Given the description of an element on the screen output the (x, y) to click on. 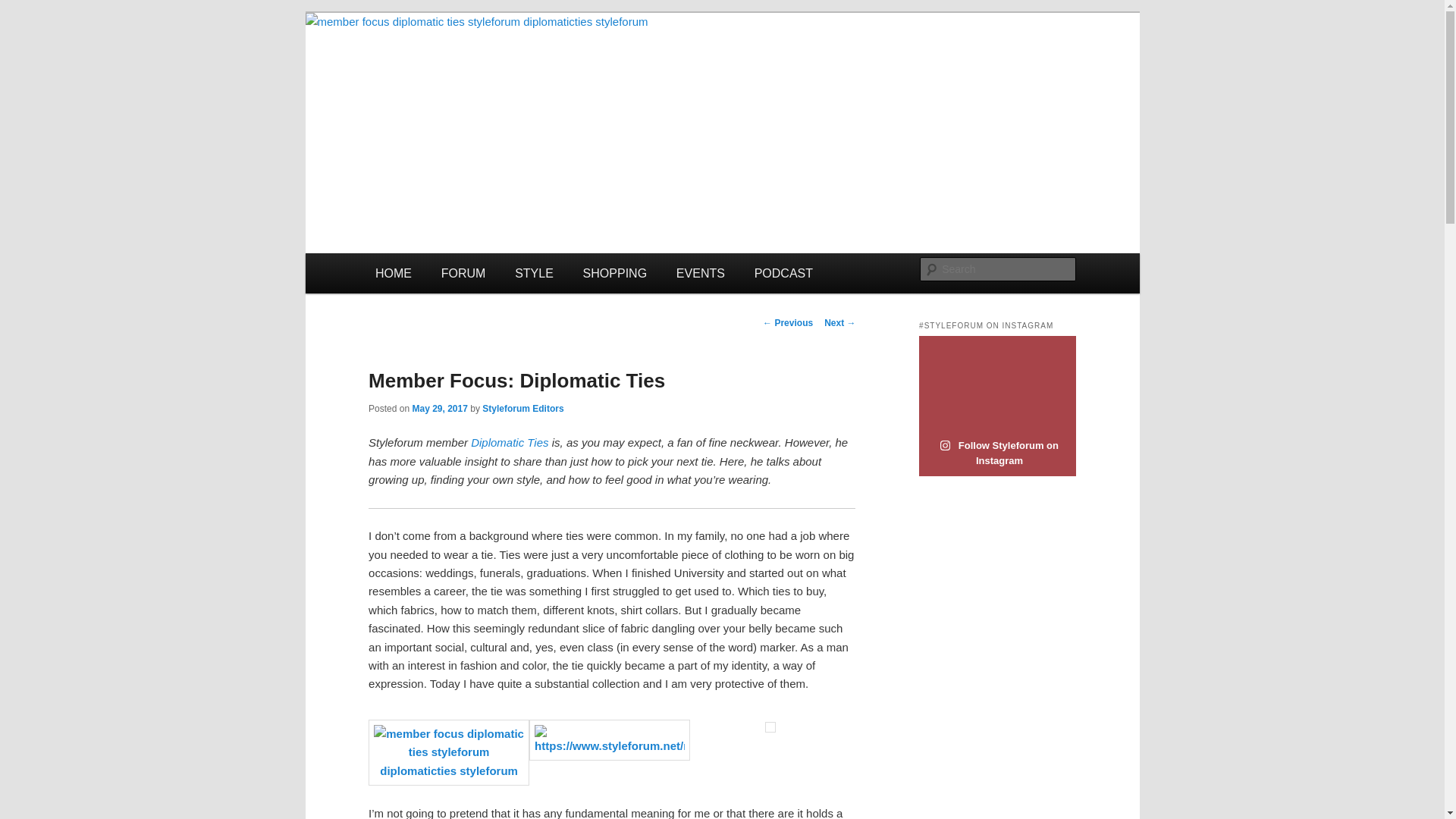
3:30 am (439, 408)
STYLE (533, 273)
Styleforum Editors (522, 408)
EVENTS (700, 273)
The Styleforum Journal (495, 67)
HOME (393, 273)
View all posts by Styleforum Editors (522, 408)
Diplomatic Ties (509, 441)
SHOPPING (614, 273)
